Given the description of an element on the screen output the (x, y) to click on. 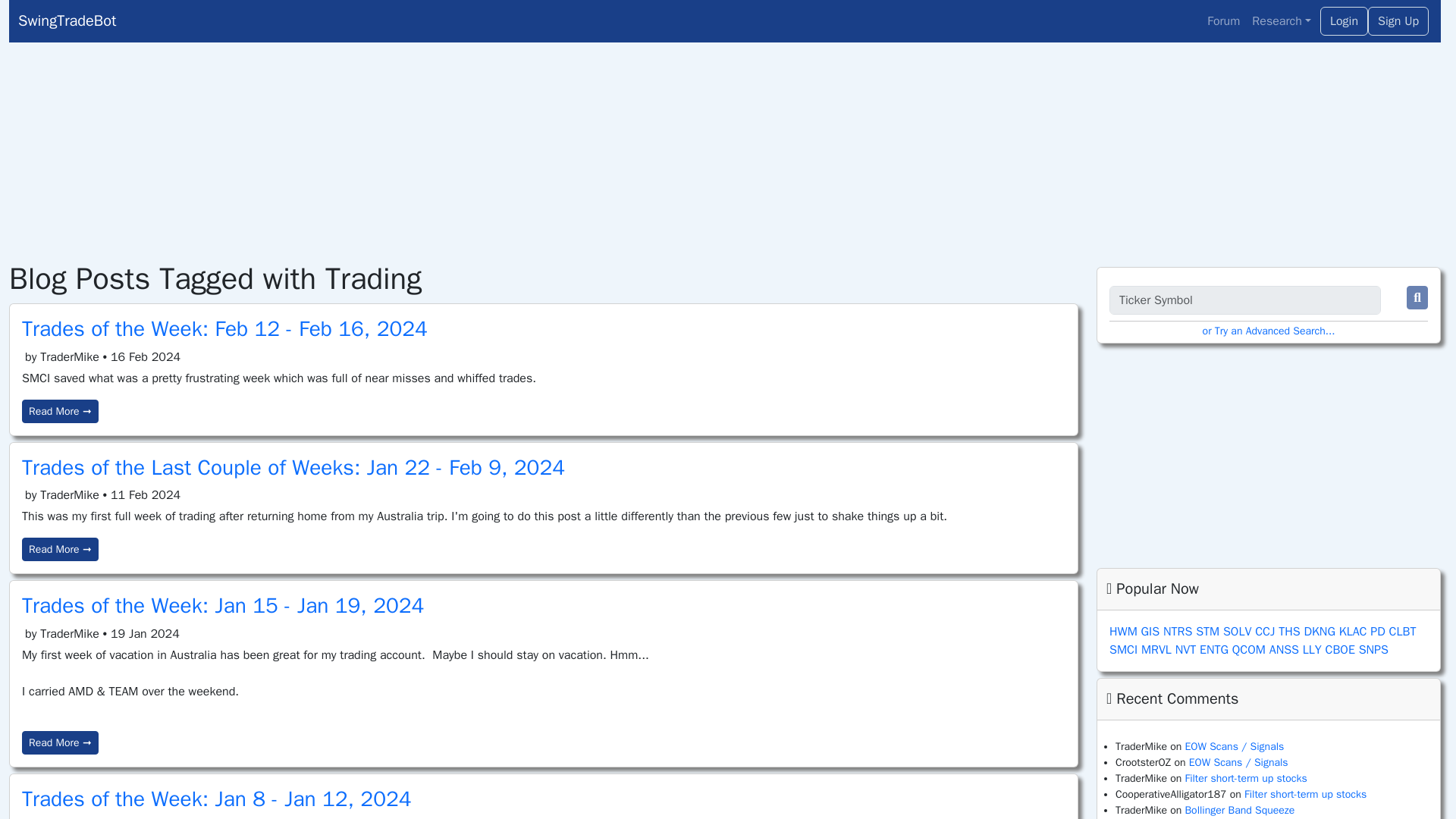
SwingTradeBot (334, 20)
Trades of the Week: Jan 15 - Jan 19, 2024 (222, 605)
Sign Up (1398, 21)
Trades of the Week: Jan 8 - Jan 12, 2024 (216, 798)
Trades of the Last Couple of Weeks: Jan 22 - Feb 9, 2024 (292, 467)
Login (1344, 21)
Forum (1223, 20)
Advertisement (1268, 455)
Trades of the Week: Feb 12 - Feb 16, 2024 (224, 328)
Research (1281, 20)
